Given the description of an element on the screen output the (x, y) to click on. 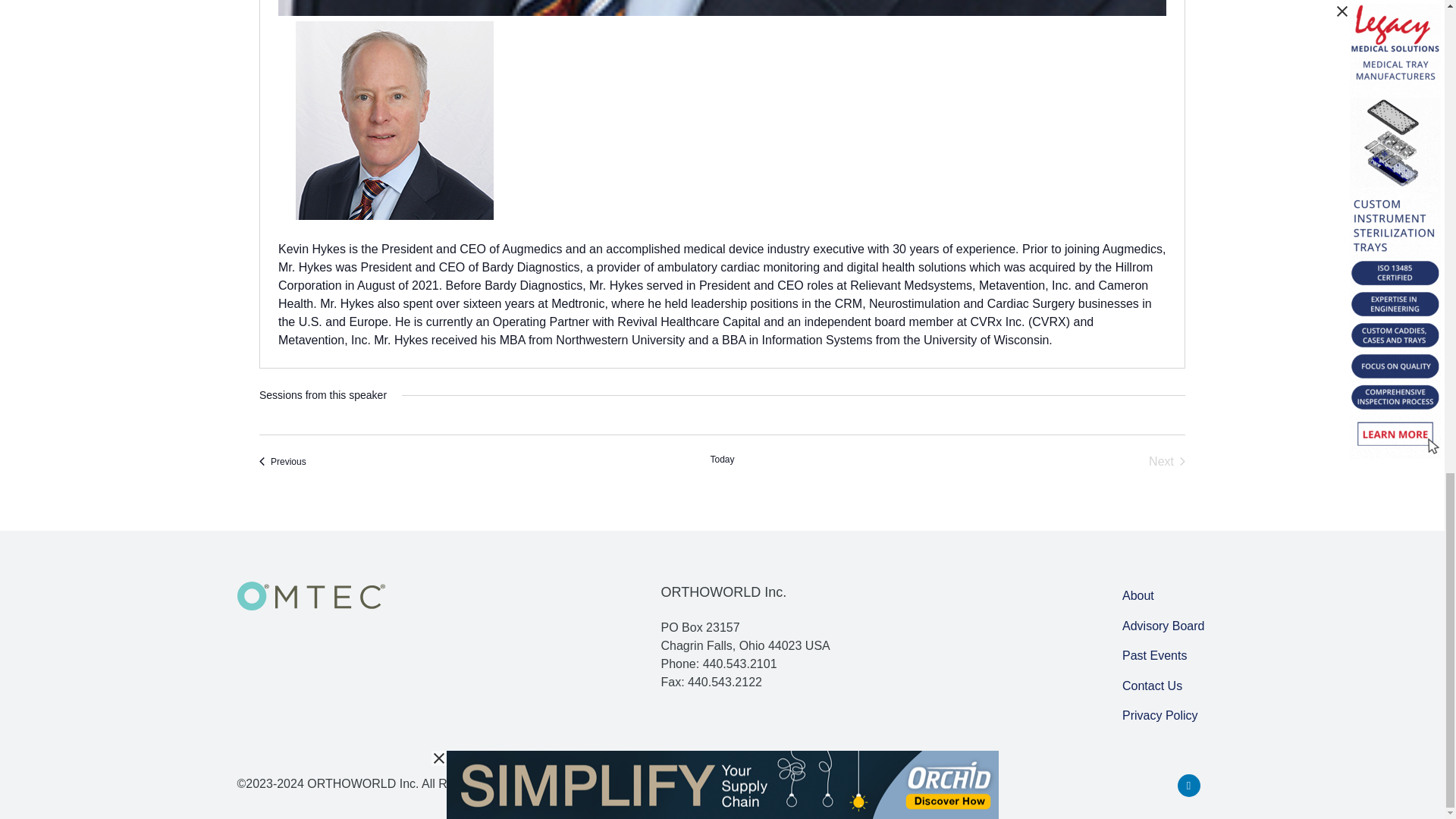
Previous Sessions (282, 461)
Next Sessions (1166, 461)
Click to select today's date (721, 461)
